Given the description of an element on the screen output the (x, y) to click on. 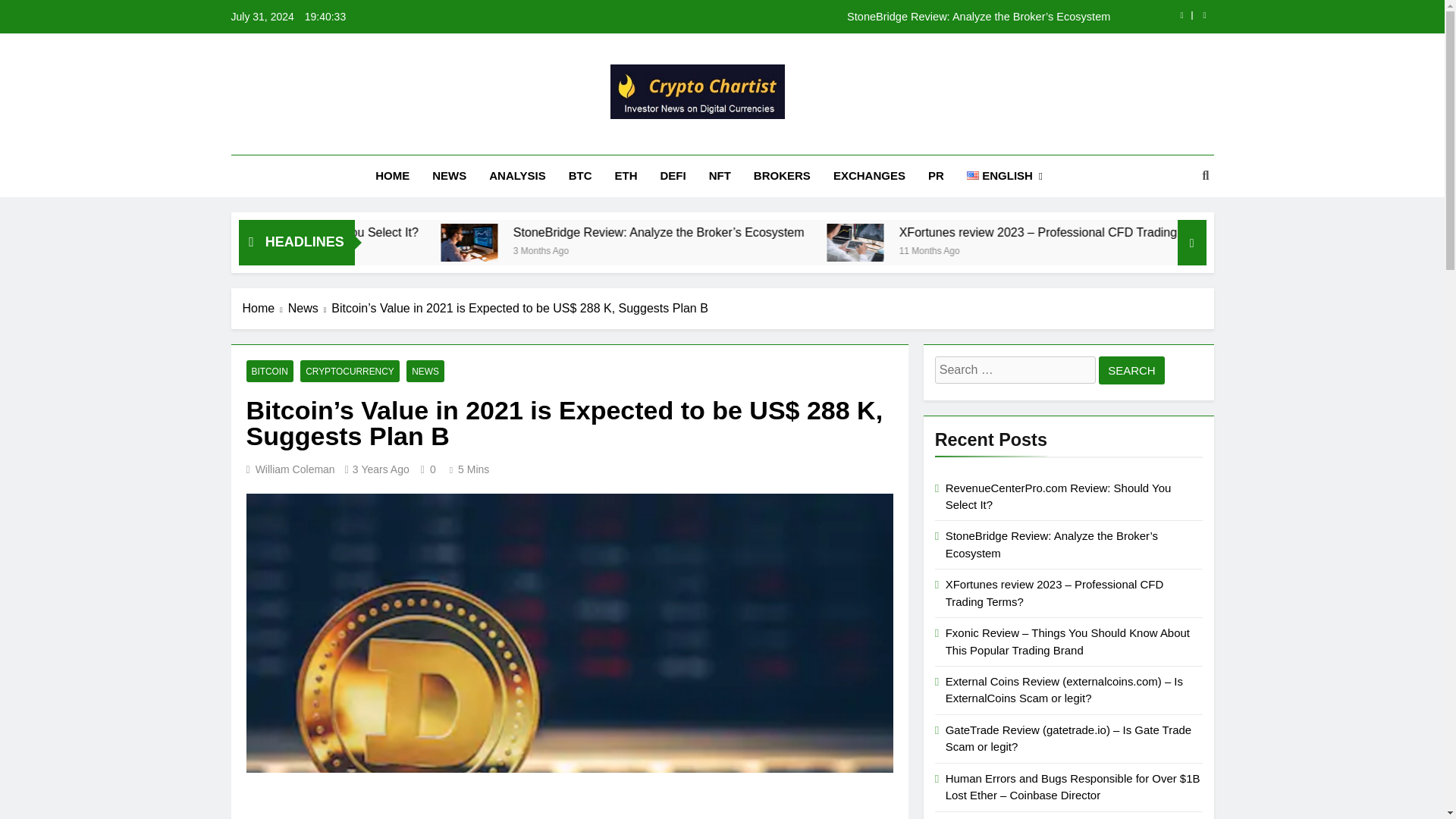
RevenueCenterPro.com Review: Should You Select It? (605, 232)
ANALYSIS (516, 175)
ENGLISH (1004, 176)
Search (1131, 370)
EXCHANGES (869, 175)
Search (1131, 370)
RevenueCenterPro.com Review: Should You Select It? (413, 242)
HOME (392, 175)
Crypto Trading Guide (594, 140)
ETH (626, 175)
BTC (580, 175)
BROKERS (782, 175)
RevenueCenterPro.com Review: Should You Select It? (605, 232)
2 Months Ago (484, 249)
NEWS (448, 175)
